Given the description of an element on the screen output the (x, y) to click on. 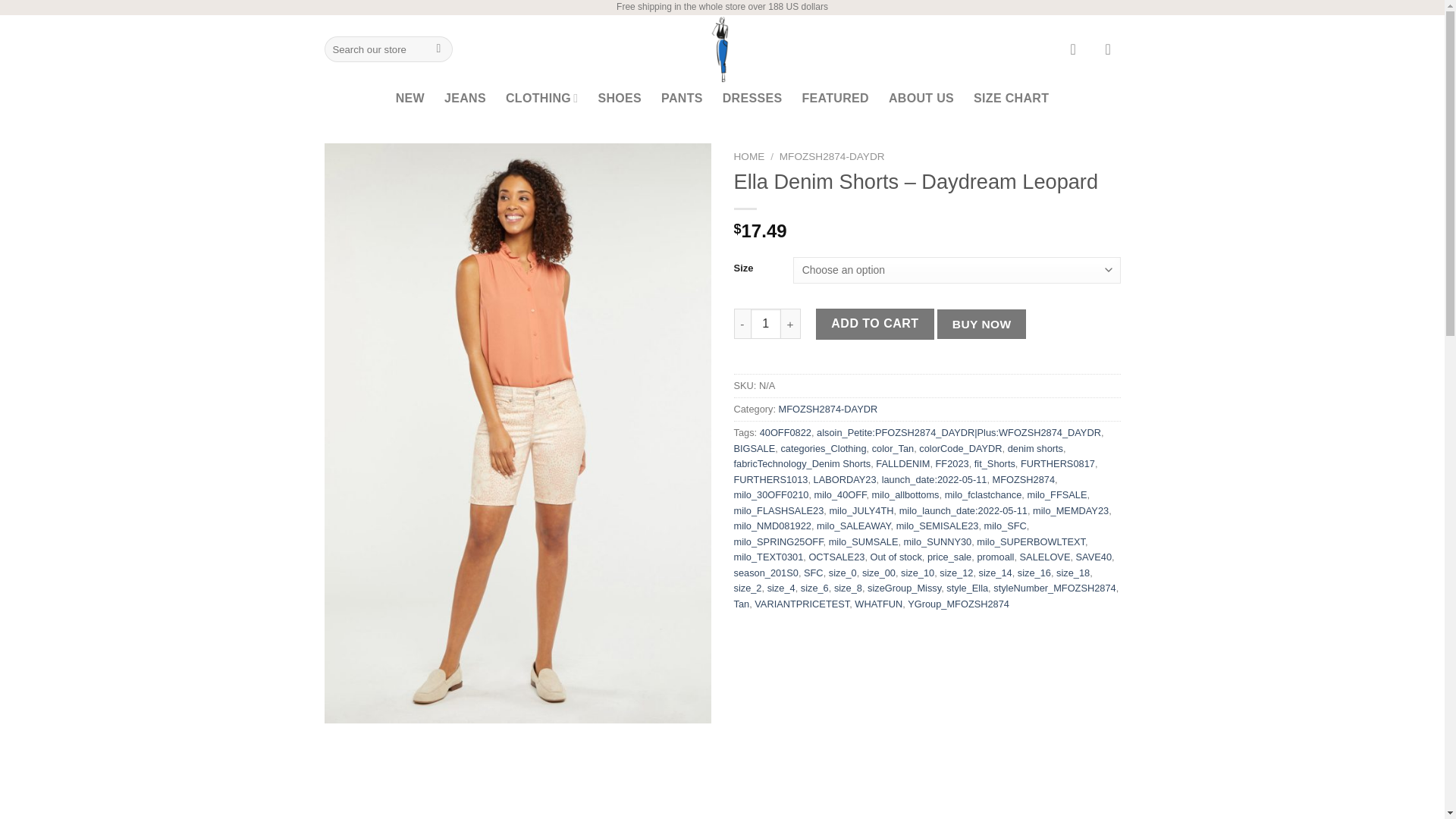
SHOES (619, 98)
PANTS (682, 98)
CLOTHING (541, 98)
SIZE CHART (1011, 98)
Search (438, 49)
Nwswell (721, 49)
JEANS (465, 98)
NEW (410, 98)
ADD TO CART (874, 323)
Qty (765, 323)
HOME (749, 156)
ABOUT US (920, 98)
DRESSES (752, 98)
FEATURED (834, 98)
MFOZSH2874-DAYDR (831, 156)
